Given the description of an element on the screen output the (x, y) to click on. 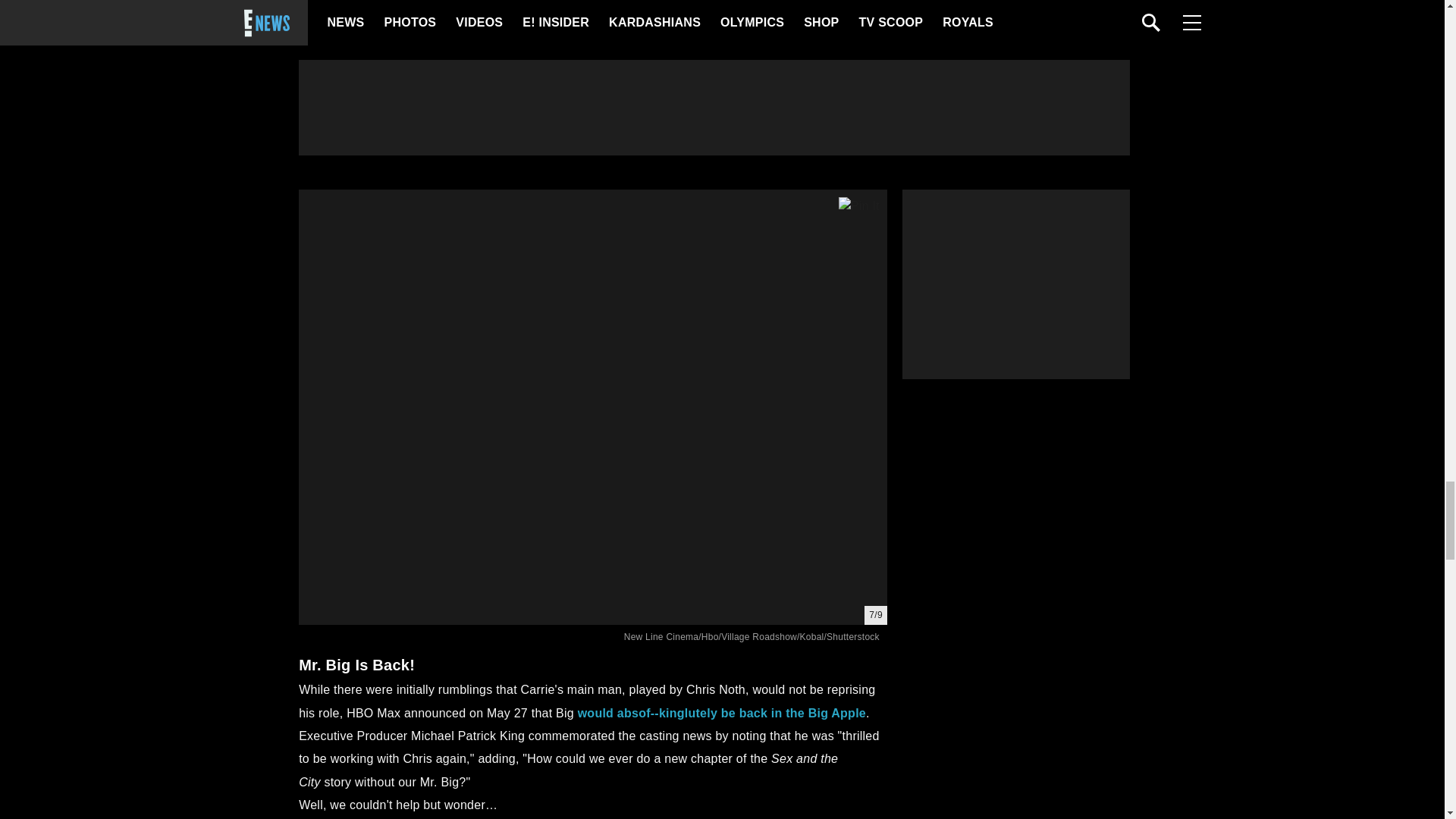
would absof--kinglutely be back in the Big Apple (722, 712)
